Given the description of an element on the screen output the (x, y) to click on. 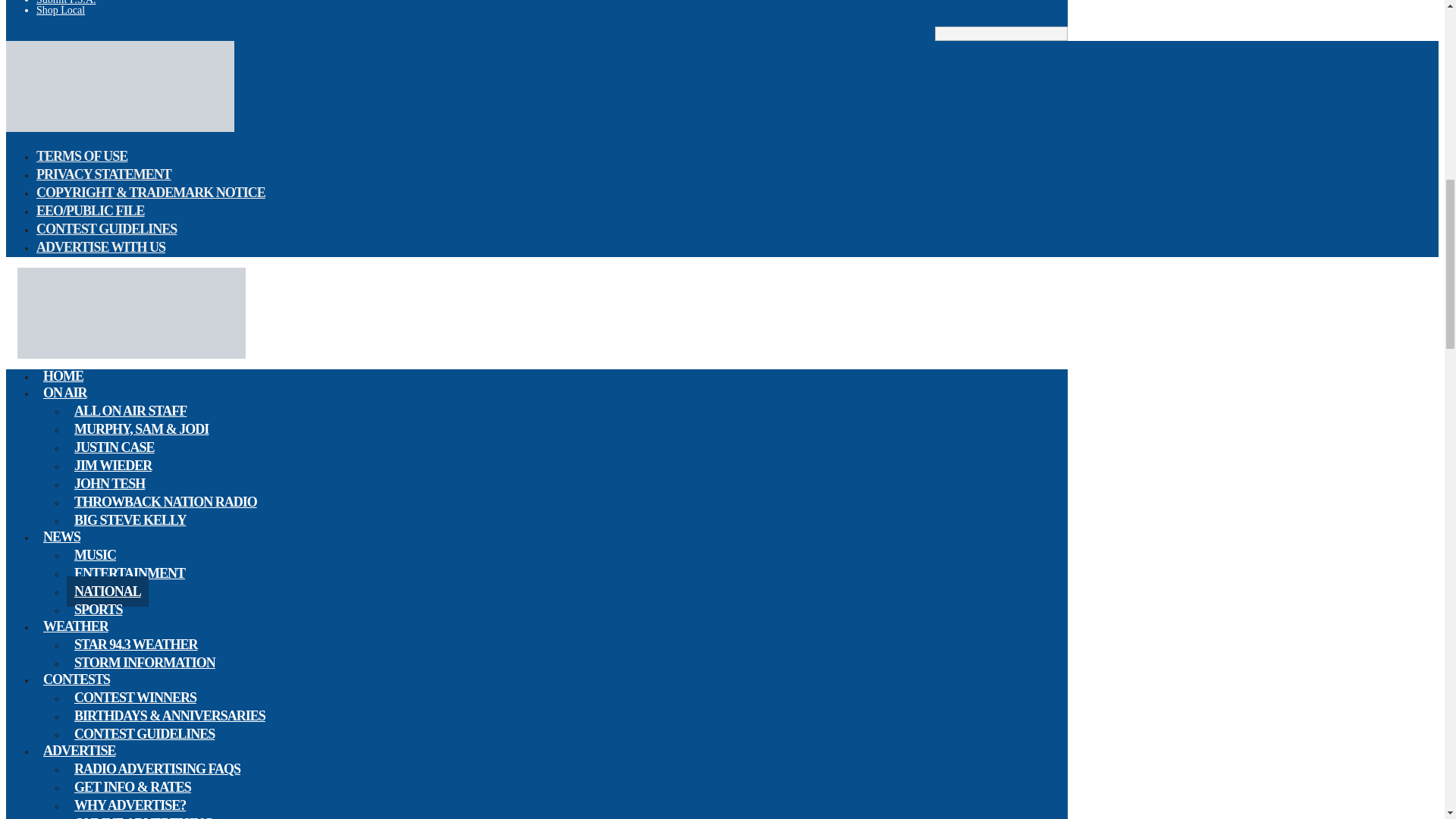
Search for: (1000, 33)
STAR 94.3 (119, 128)
